Given the description of an element on the screen output the (x, y) to click on. 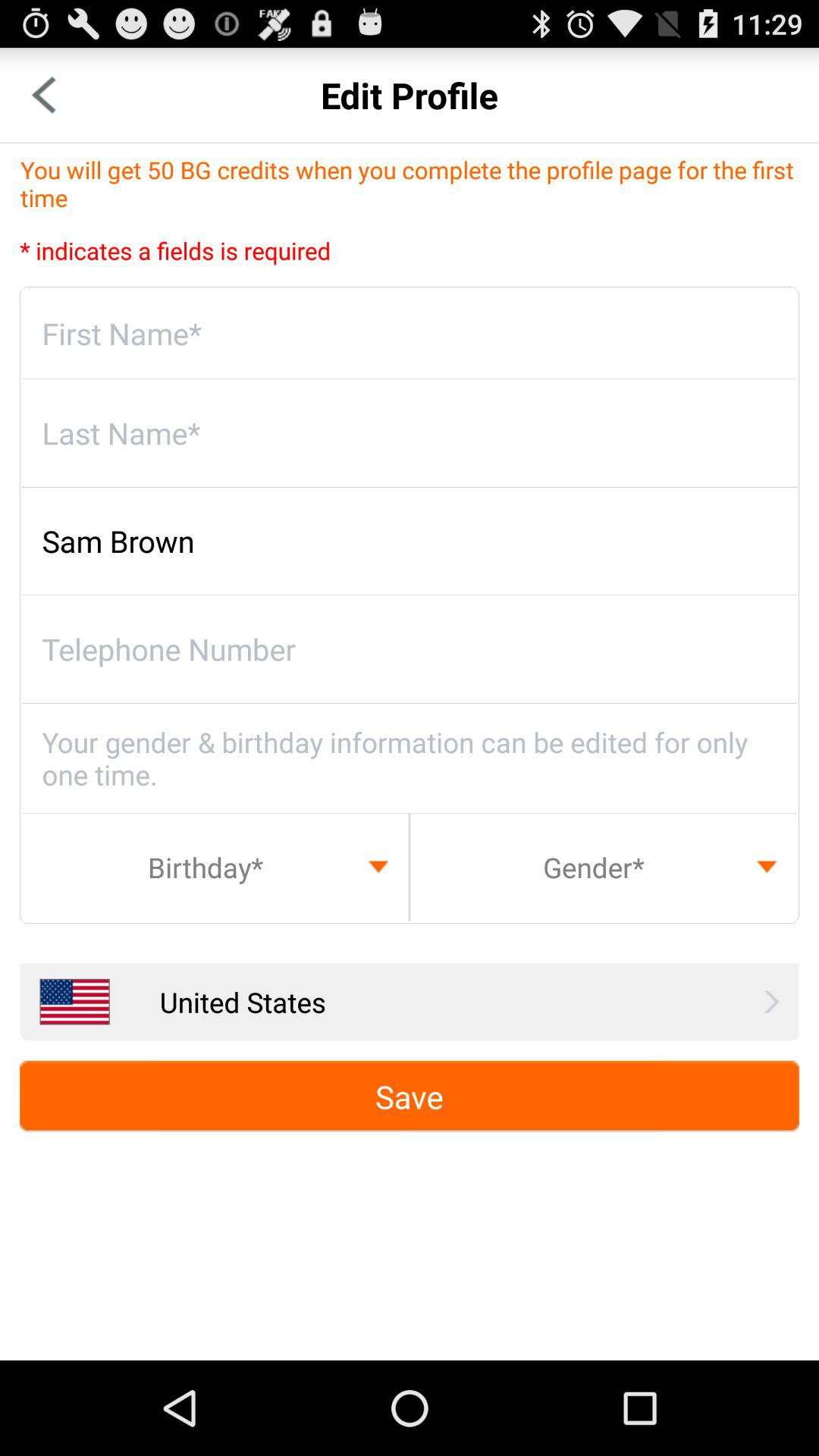
choose your gender (603, 867)
